Given the description of an element on the screen output the (x, y) to click on. 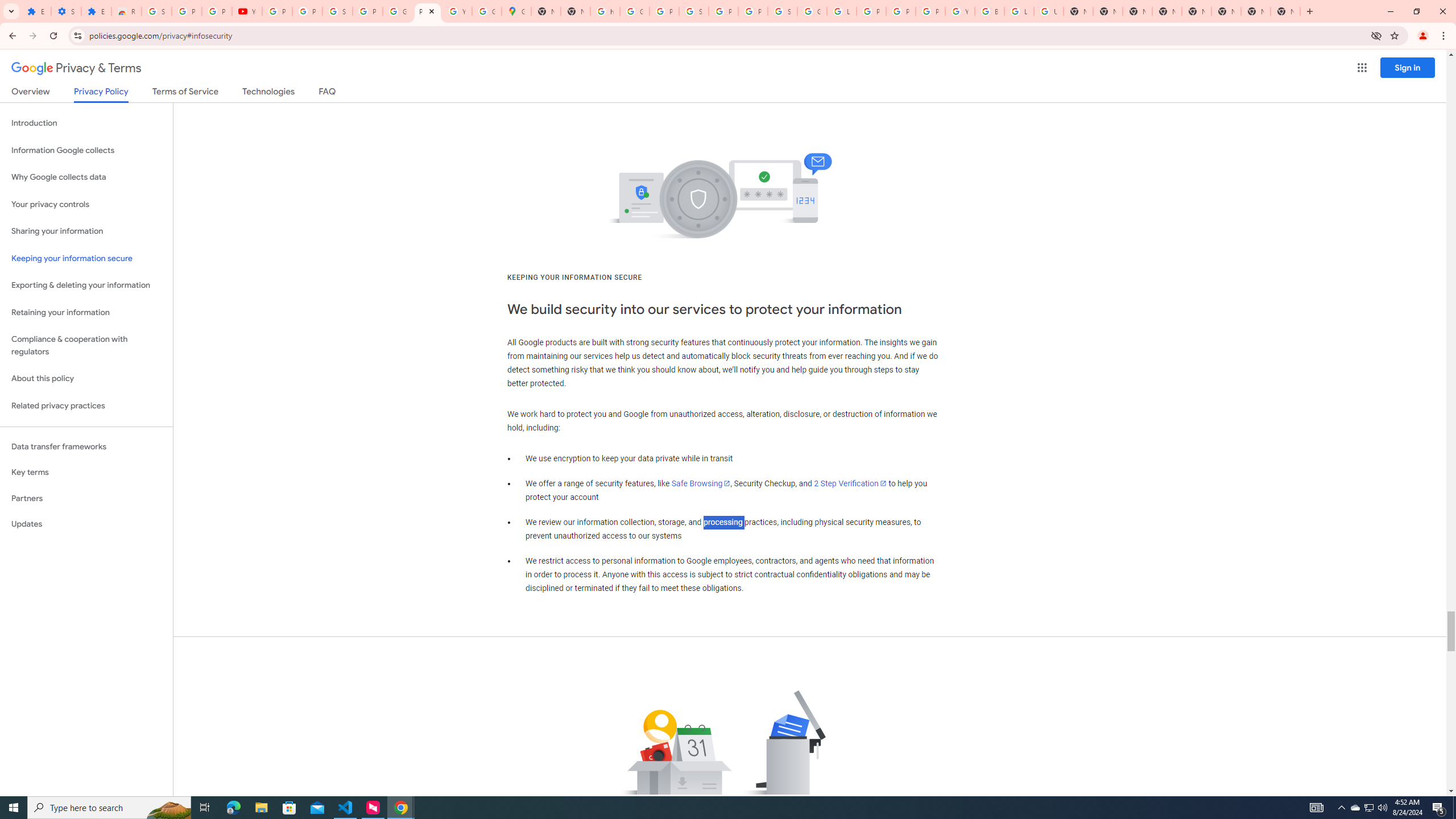
YouTube (959, 11)
Privacy Help Center - Policies Help (900, 11)
